Given the description of an element on the screen output the (x, y) to click on. 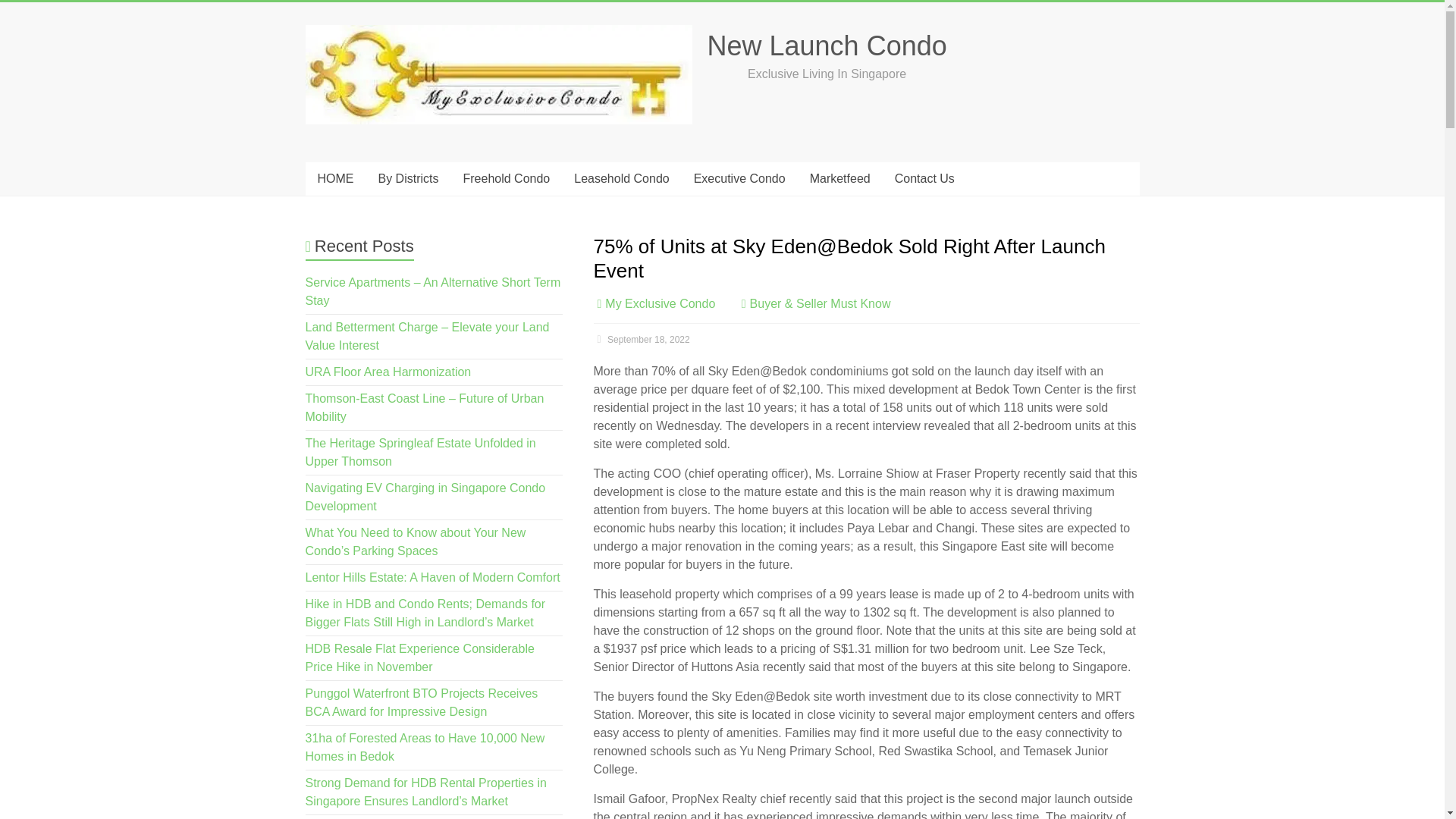
Leasehold Condo (621, 178)
Executive Condo (739, 178)
HOME (334, 178)
My Exclusive Condo (659, 303)
Navigating EV Charging in Singapore Condo Development (424, 496)
Freehold Condo (505, 178)
New Launch Condo (826, 45)
HOME (334, 178)
September 18, 2022 (640, 339)
The Heritage Springleaf Estate Unfolded in Upper Thomson (419, 451)
